Given the description of an element on the screen output the (x, y) to click on. 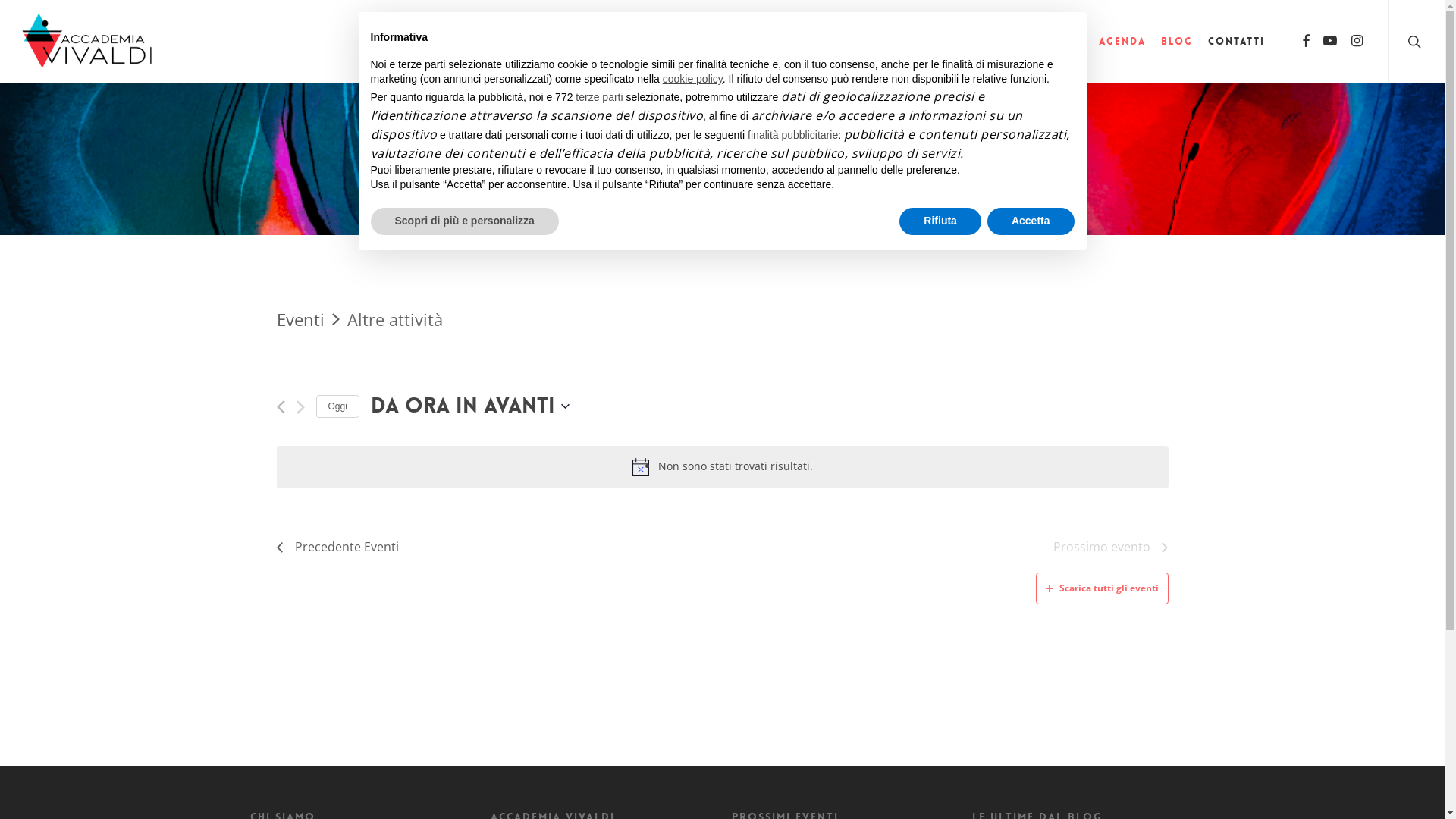
Chi siamo Element type: text (999, 41)
Agenda Element type: text (1122, 41)
Corsi Element type: text (1065, 41)
Precedente Eventi Element type: text (337, 547)
Accetta Element type: text (1030, 221)
instagram Element type: text (1357, 41)
Rifiuta Element type: text (940, 221)
Da ora in avanti Element type: text (470, 406)
Oggi Element type: text (336, 406)
Blog Element type: text (1176, 41)
terze parti Element type: text (598, 97)
Contatti Element type: text (1236, 41)
Home Element type: text (935, 41)
Precedente Eventi Element type: hover (280, 407)
search Element type: text (1415, 41)
cookie policy Element type: text (692, 78)
youtube Element type: text (1329, 41)
Prossimo Eventi Element type: hover (299, 407)
Eventi Element type: text (299, 318)
Prossimo evento Element type: text (1109, 547)
facebook Element type: text (1305, 41)
Scarica tutti gli eventi Element type: text (1101, 588)
